Given the description of an element on the screen output the (x, y) to click on. 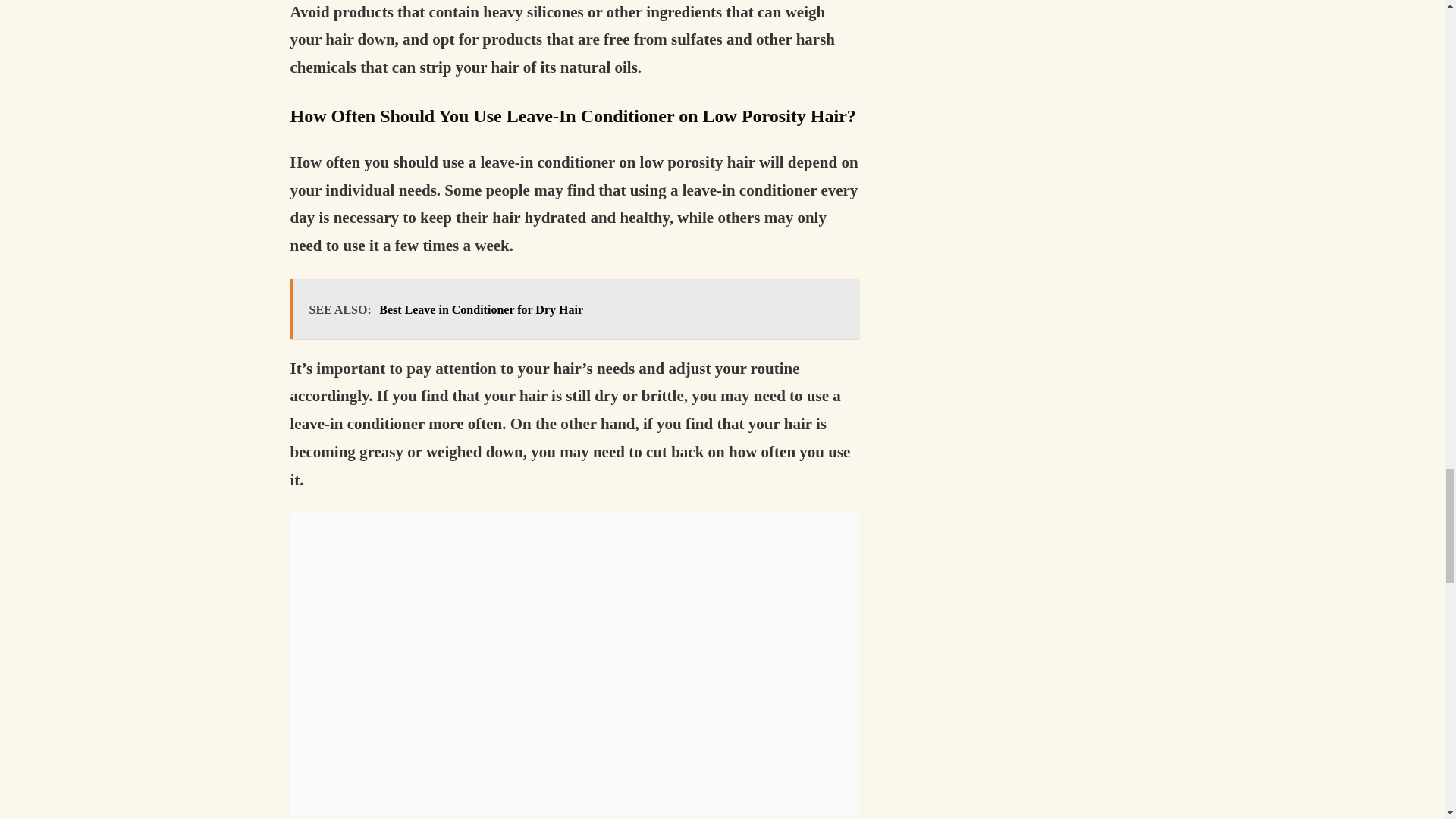
SEE ALSO:  Best Leave in Conditioner for Dry Hair (574, 309)
